Given the description of an element on the screen output the (x, y) to click on. 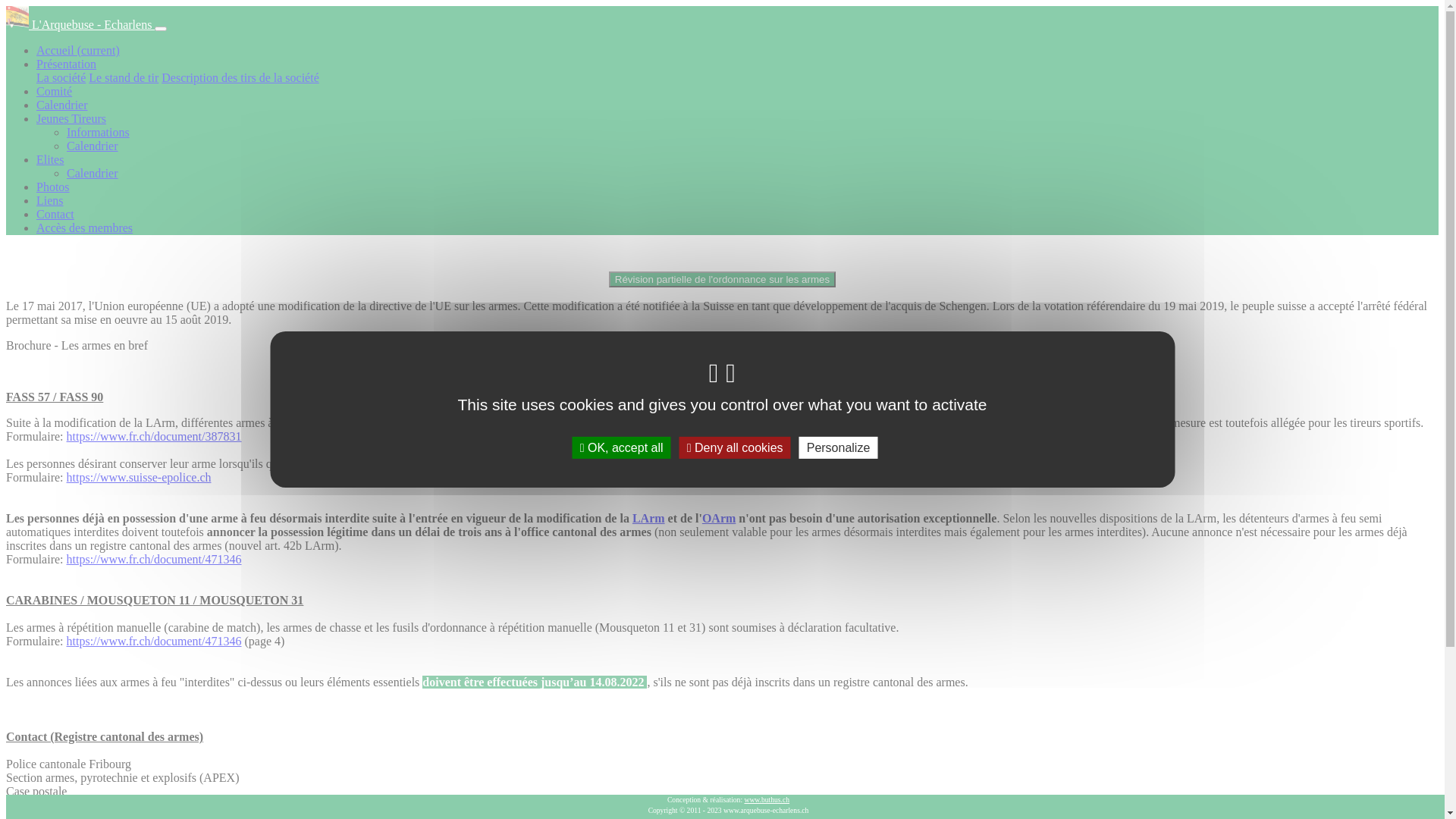
https://www.fr.ch/document/471346 Element type: text (153, 558)
https://www.suisse-epolice.ch Element type: text (138, 476)
Liens Element type: text (49, 200)
OArm Element type: text (718, 517)
https://www.fr.ch/document/471346 Element type: text (153, 640)
LArm Element type: text (648, 517)
Elites Element type: text (49, 159)
Deny all cookies Element type: text (734, 447)
L'Arquebuse - Echarlens Element type: text (80, 24)
Contact Element type: text (55, 213)
Calendrier Element type: text (61, 104)
Accueil (current) Element type: text (77, 49)
www.buthus.ch Element type: text (766, 799)
Le stand de tir Element type: text (123, 77)
Photos Element type: text (52, 186)
https://www.fr.ch/document/387831 Element type: text (153, 435)
Calendrier Element type: text (92, 172)
Informations Element type: text (97, 131)
OK, accept all Element type: text (621, 447)
Jeunes Tireurs Element type: text (71, 118)
Calendrier Element type: text (92, 145)
Personalize Element type: text (838, 447)
